Given the description of an element on the screen output the (x, y) to click on. 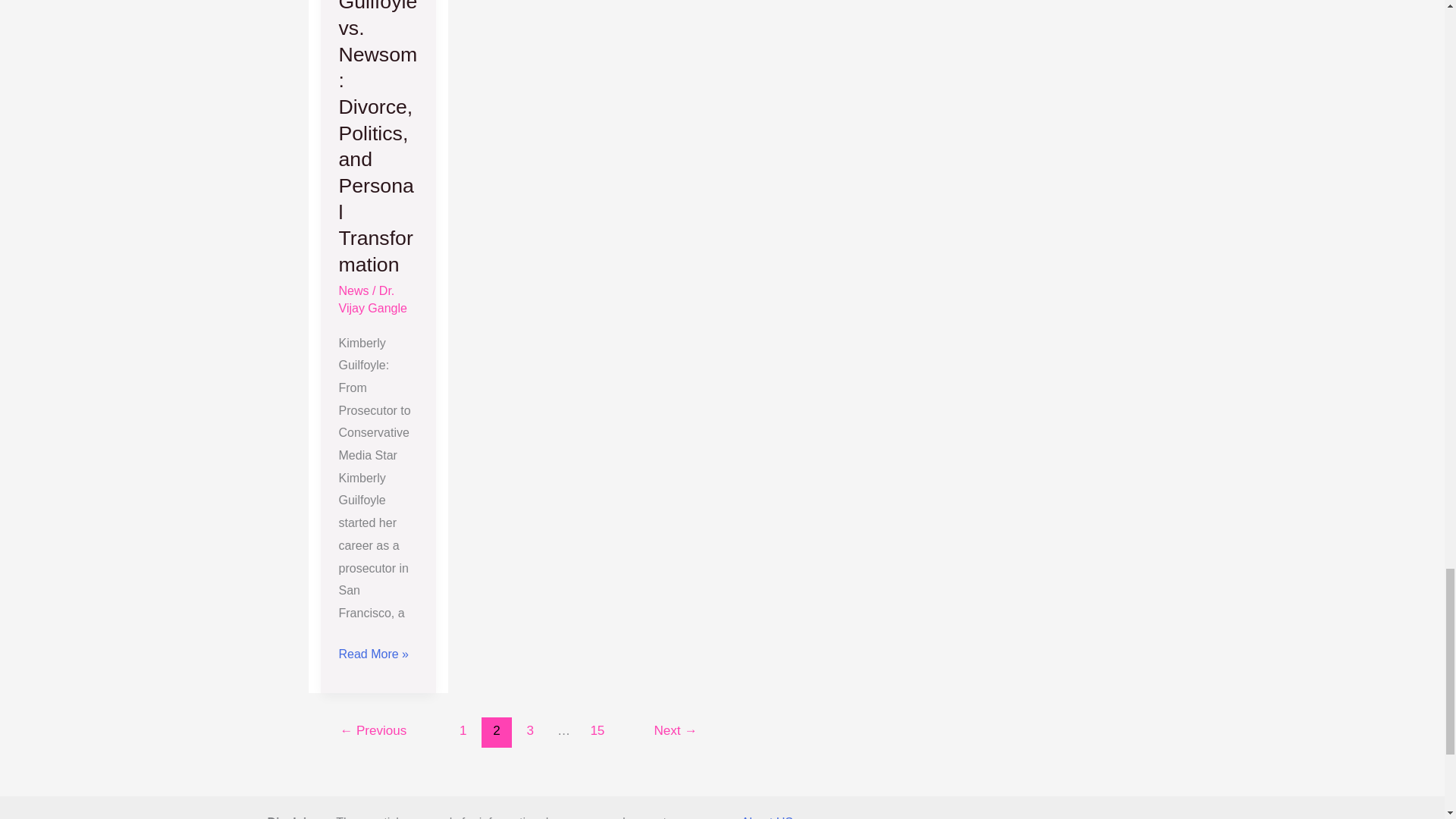
View all posts by Dr. Vijay Gangle (371, 299)
